Given the description of an element on the screen output the (x, y) to click on. 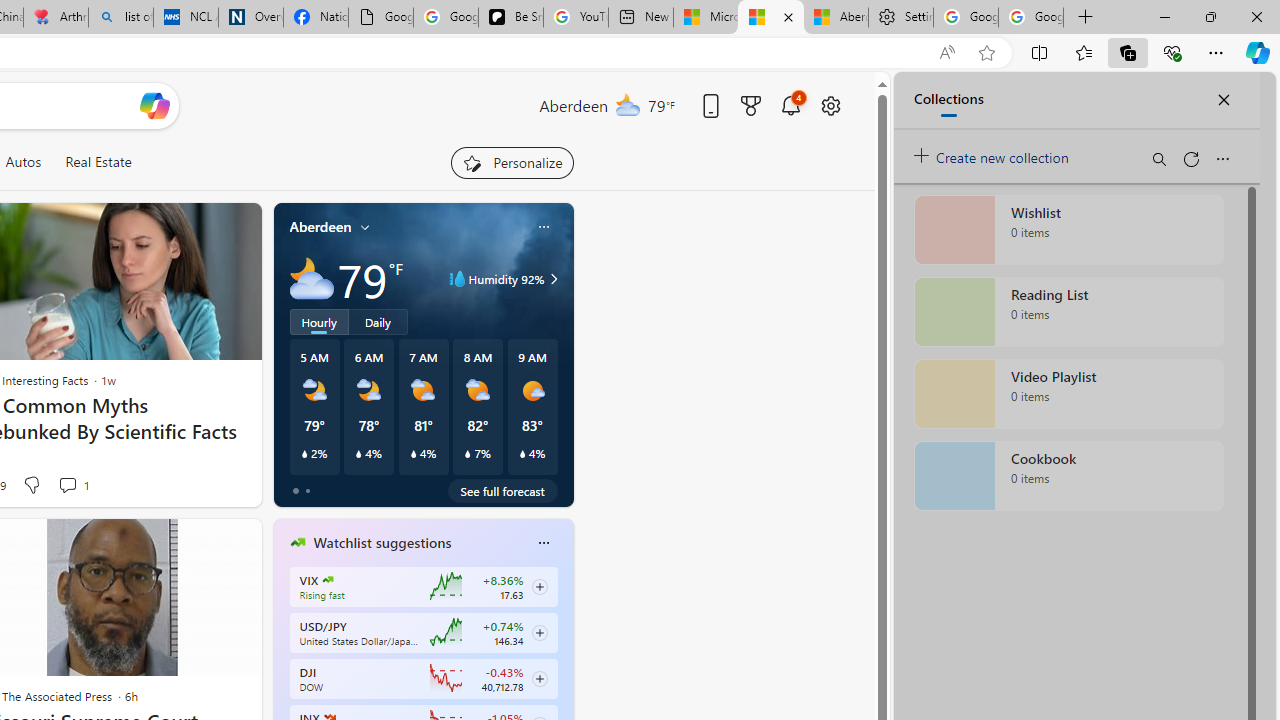
Open Copilot (155, 105)
Daily (378, 321)
More options (543, 543)
Aberdeen, Hong Kong SAR hourly forecast | Microsoft Weather (835, 17)
Open Copilot (155, 105)
Class: weather-current-precipitation-glyph (522, 453)
CBOE Market Volatility Index (328, 579)
Microsoft rewards (749, 105)
